Given the description of an element on the screen output the (x, y) to click on. 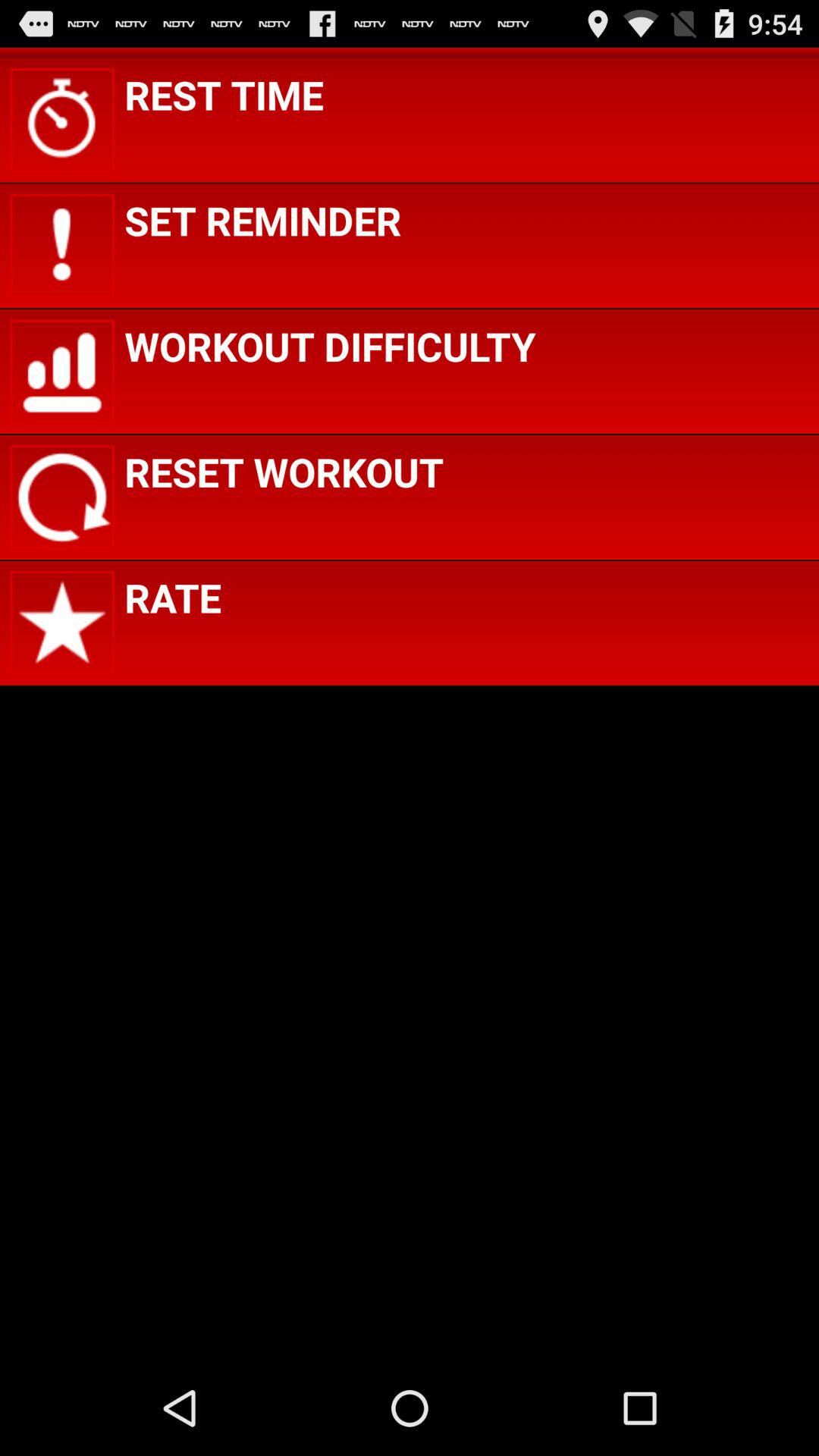
press the app below the reset workout item (172, 597)
